Given the description of an element on the screen output the (x, y) to click on. 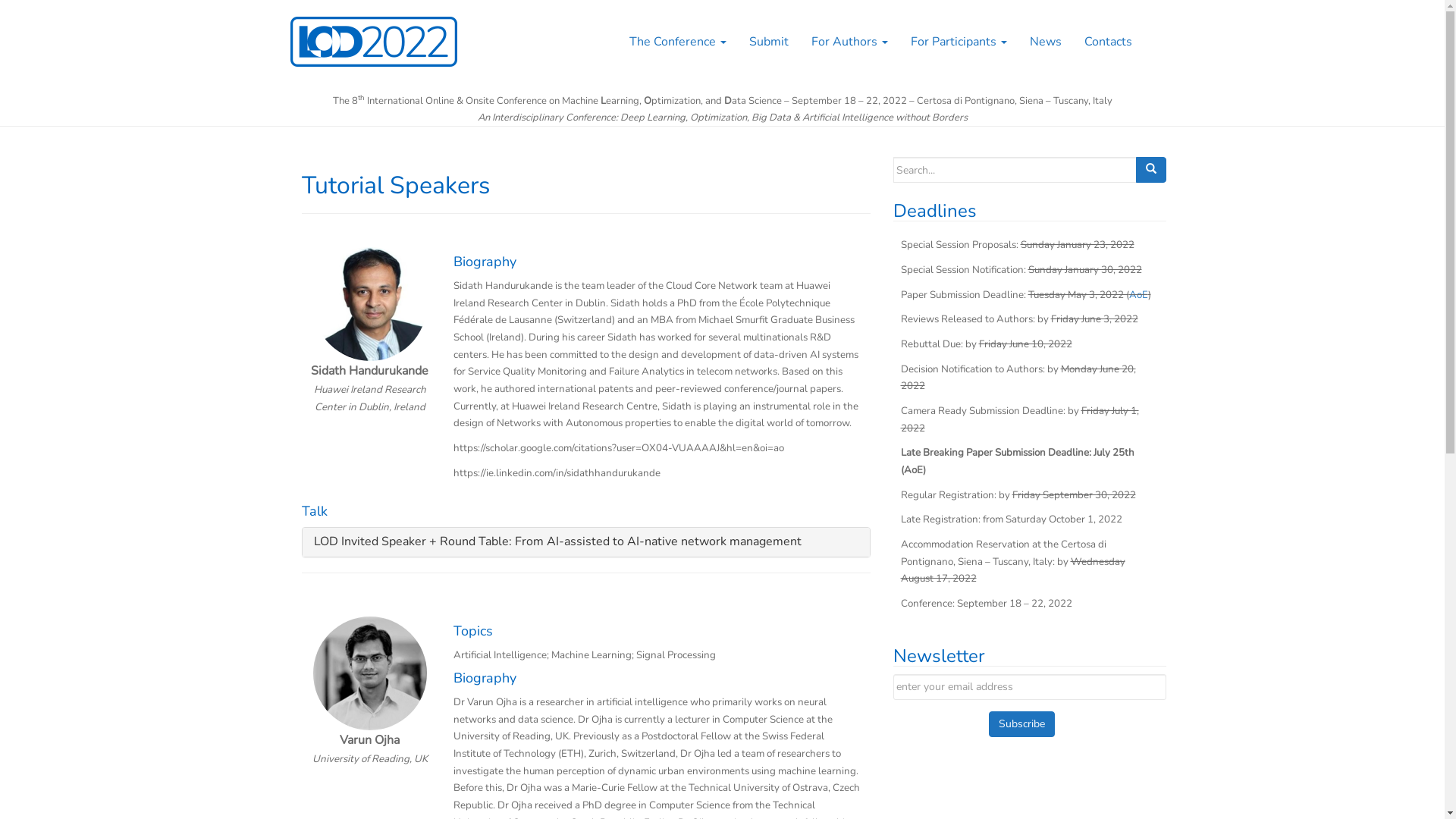
For Authors Element type: text (848, 41)
News Element type: text (1044, 41)
Submit Element type: text (768, 41)
The Conference Element type: text (677, 41)
Huawei Ireland Research Center in Dublin, Ireland Element type: text (369, 398)
Subscribe Element type: text (1021, 724)
For Participants Element type: text (958, 41)
Search Element type: text (1150, 169)
Contacts Element type: text (1107, 41)
AoE Element type: text (1137, 294)
